Given the description of an element on the screen output the (x, y) to click on. 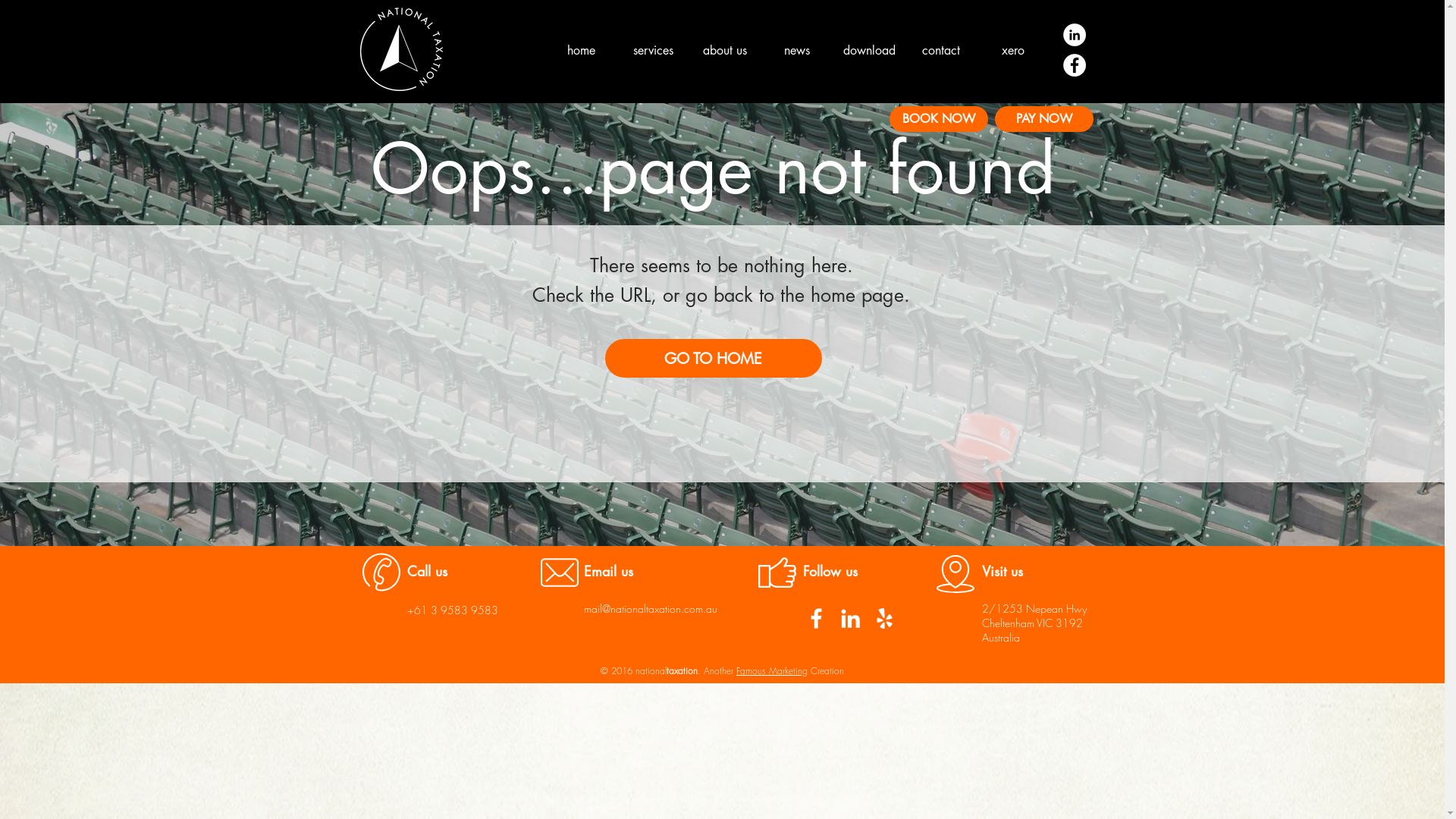
Famous Marketing Element type: text (771, 670)
GO TO HOME Element type: text (713, 357)
home Element type: text (581, 49)
mail@nationaltaxation.com.au Element type: text (650, 608)
services Element type: text (652, 49)
news Element type: text (796, 49)
xero Element type: text (1012, 49)
about us Element type: text (725, 49)
PAY NOW Element type: text (1043, 118)
contact Element type: text (940, 49)
BOOK NOW Element type: text (937, 118)
download Element type: text (869, 49)
